Given the description of an element on the screen output the (x, y) to click on. 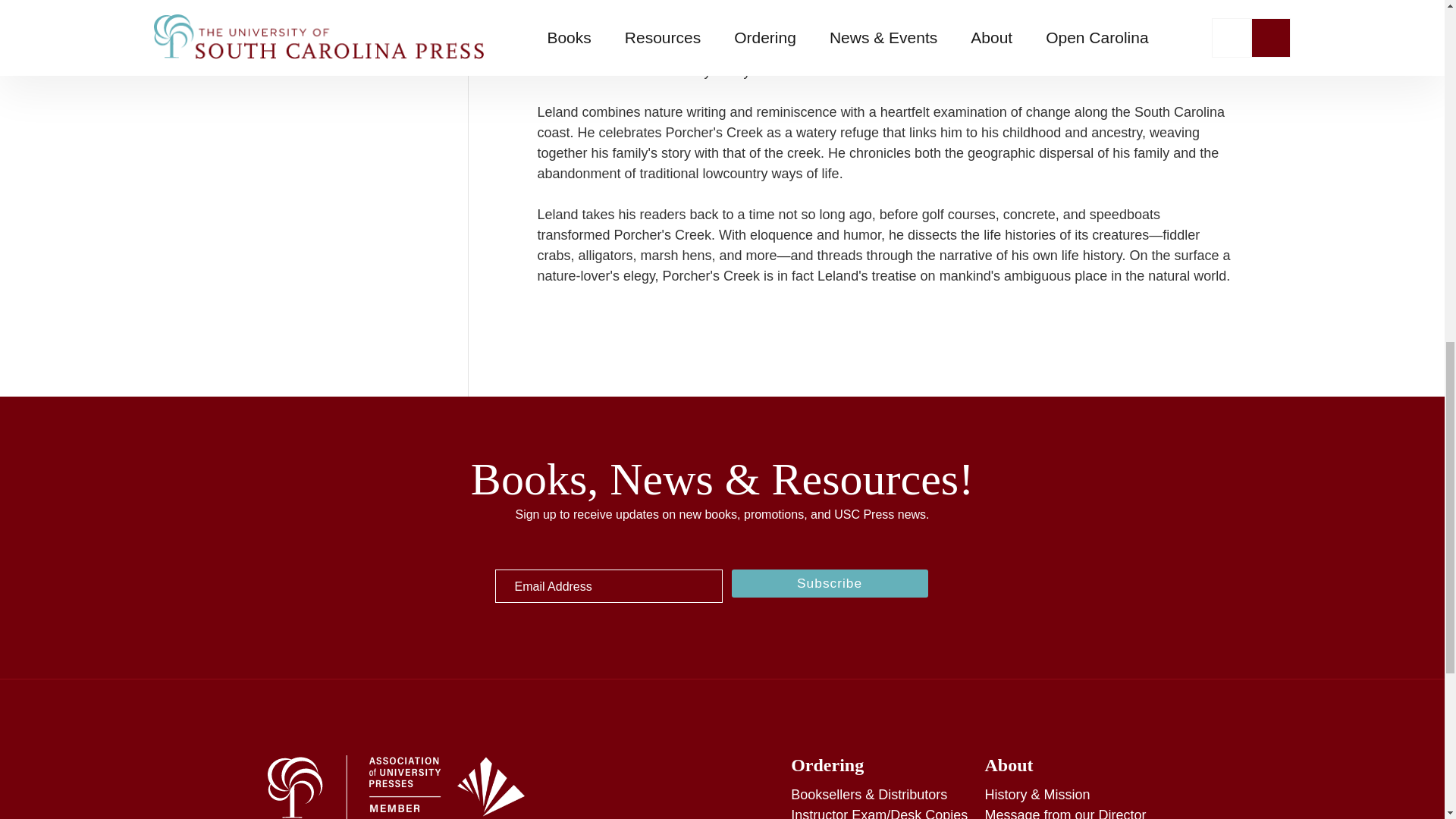
Subscribe (828, 582)
